Given the description of an element on the screen output the (x, y) to click on. 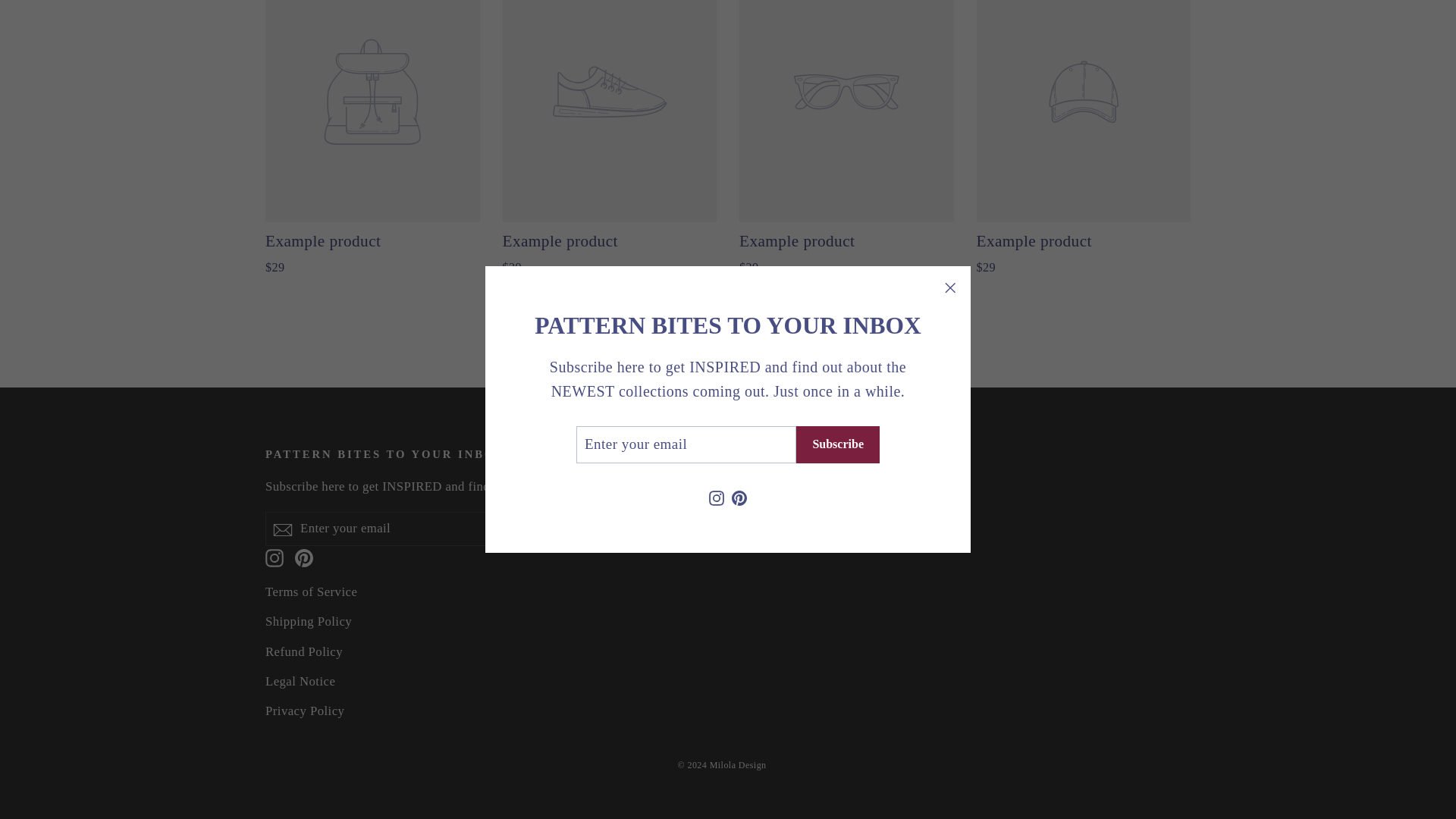
instagram (273, 557)
icon-email (282, 529)
